Given the description of an element on the screen output the (x, y) to click on. 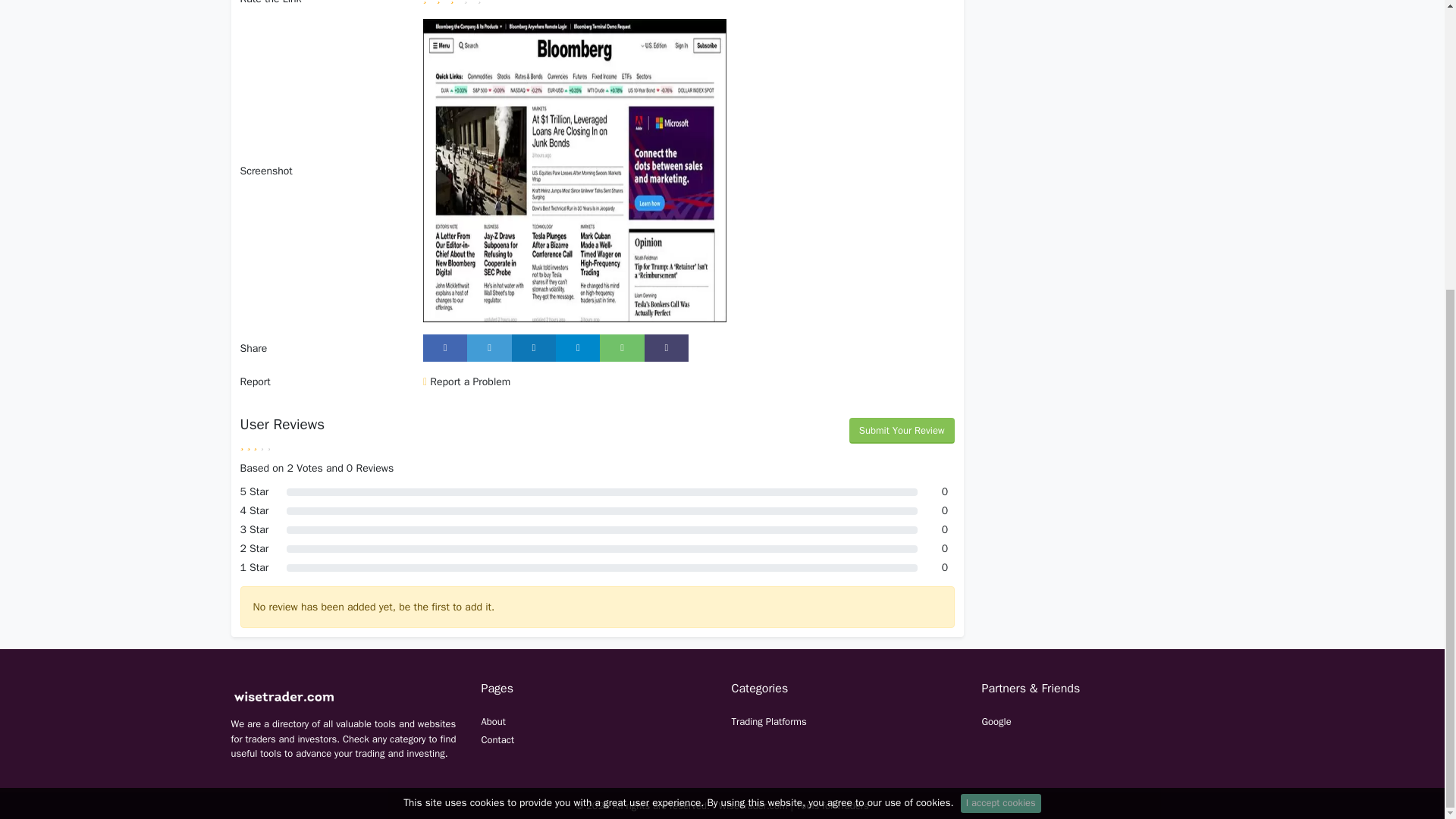
5 (484, 1)
3 (456, 1)
Submit Your Review (901, 430)
Report a Problem (467, 381)
